Given the description of an element on the screen output the (x, y) to click on. 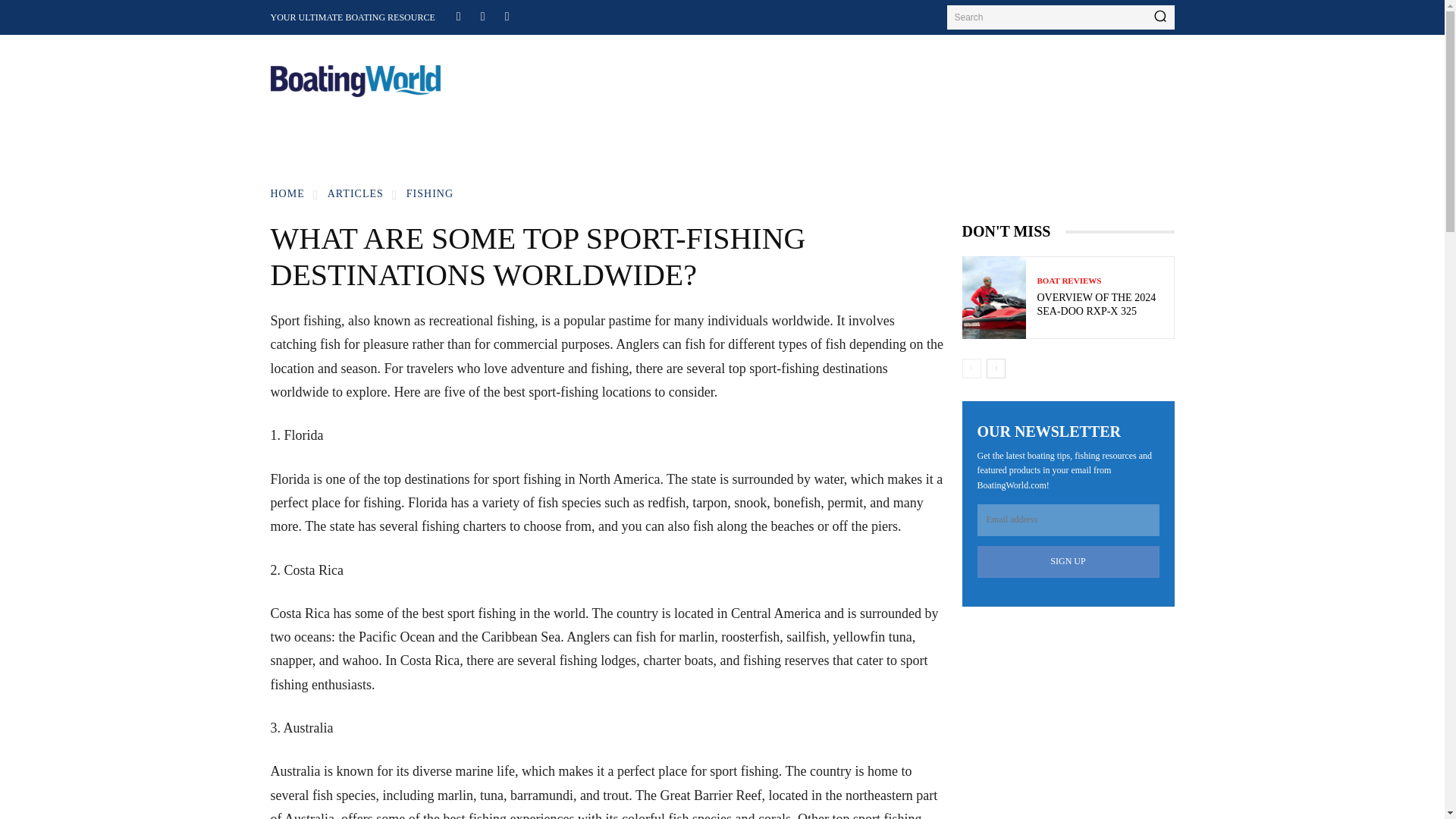
Instagram (482, 15)
Facebook (458, 15)
BoatingWorld (355, 81)
View all posts in Articles (355, 193)
Twitter (507, 15)
